Given the description of an element on the screen output the (x, y) to click on. 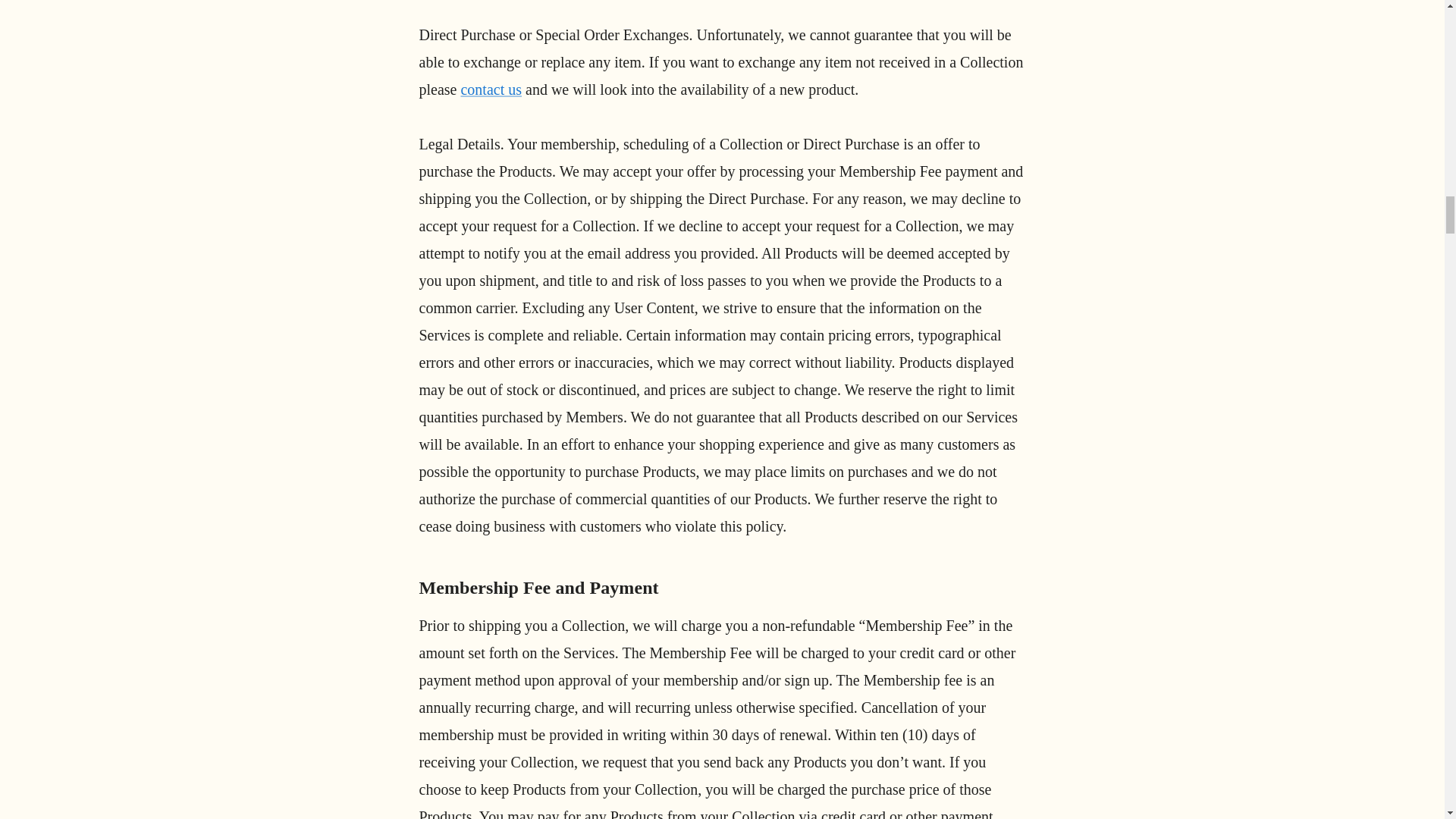
contact us (490, 89)
